Given the description of an element on the screen output the (x, y) to click on. 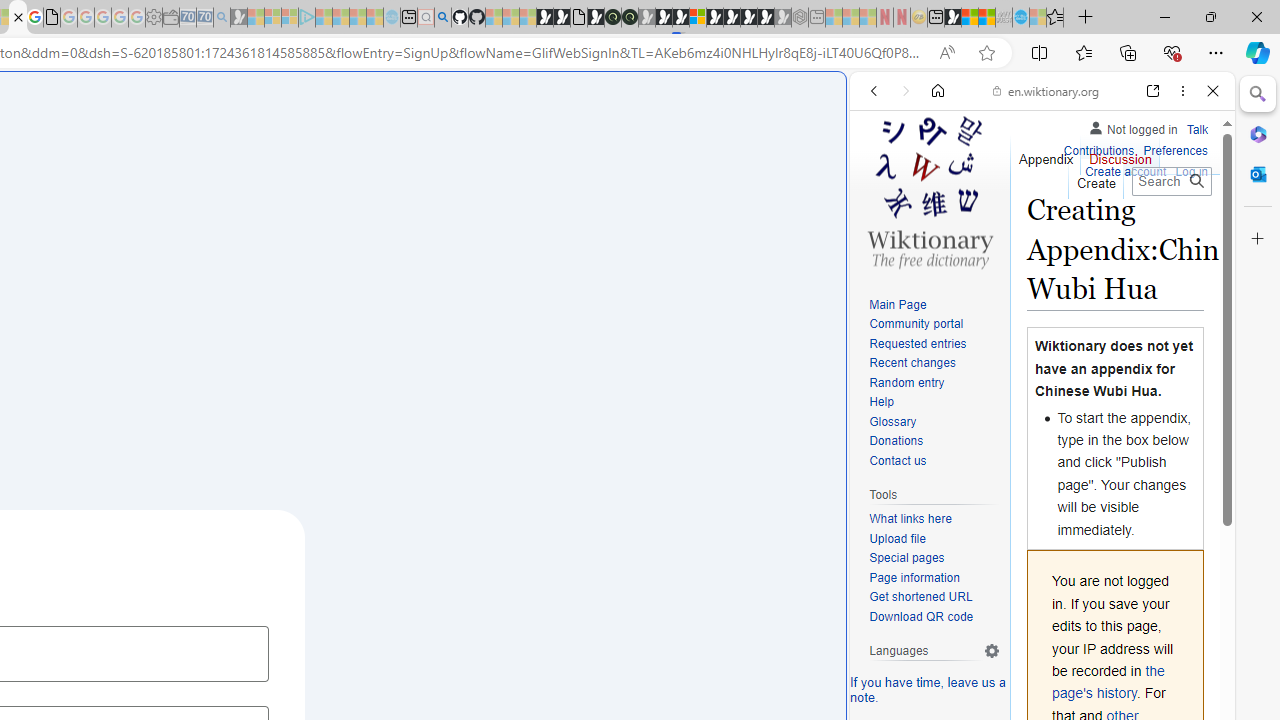
Discussion (1120, 154)
Sign in to your account (697, 17)
Create (1095, 178)
Contact us (934, 461)
What links here (934, 519)
Download QR code (934, 616)
